Given the description of an element on the screen output the (x, y) to click on. 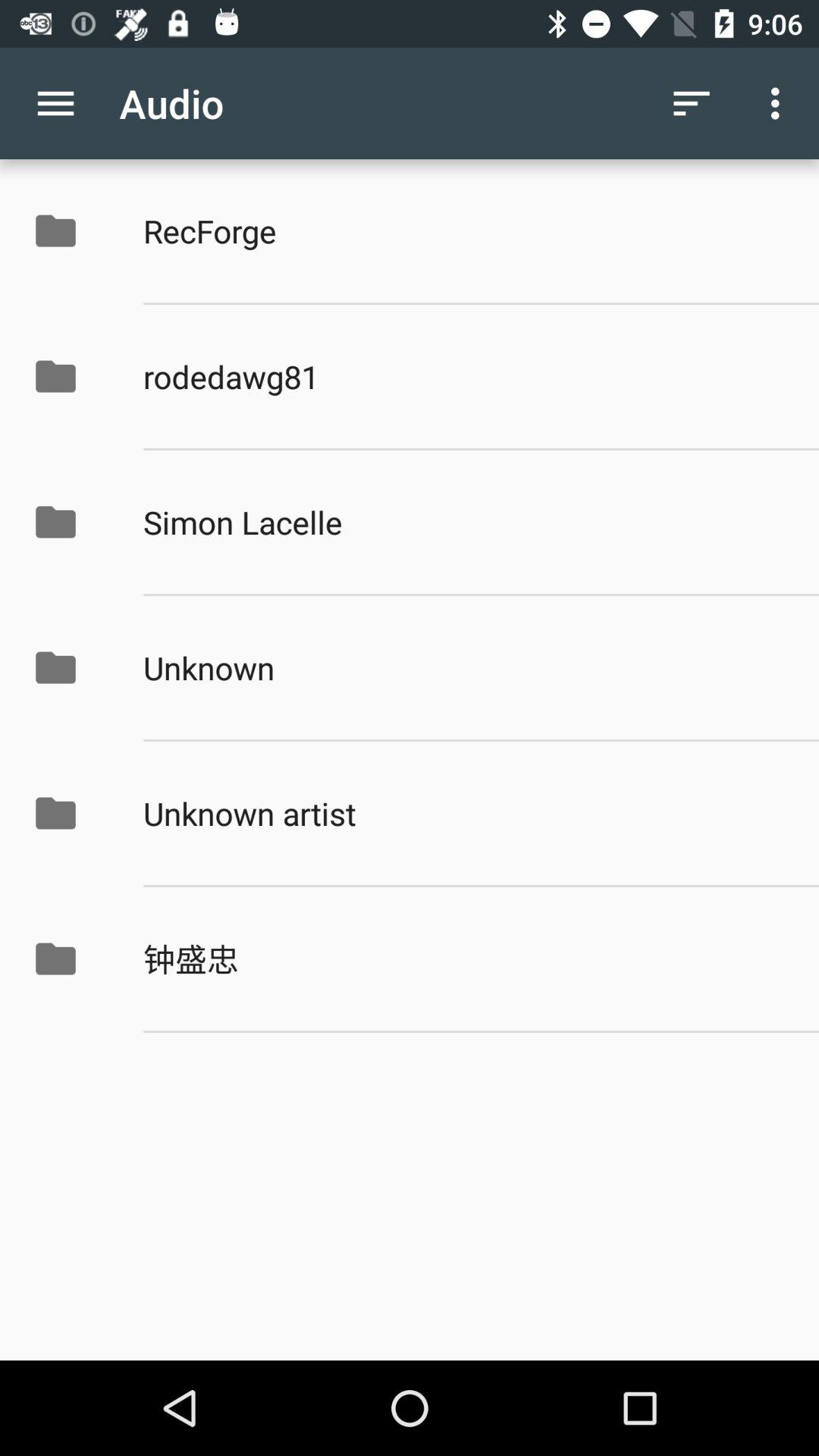
select the icon left rodedawg81 (71, 376)
